Given the description of an element on the screen output the (x, y) to click on. 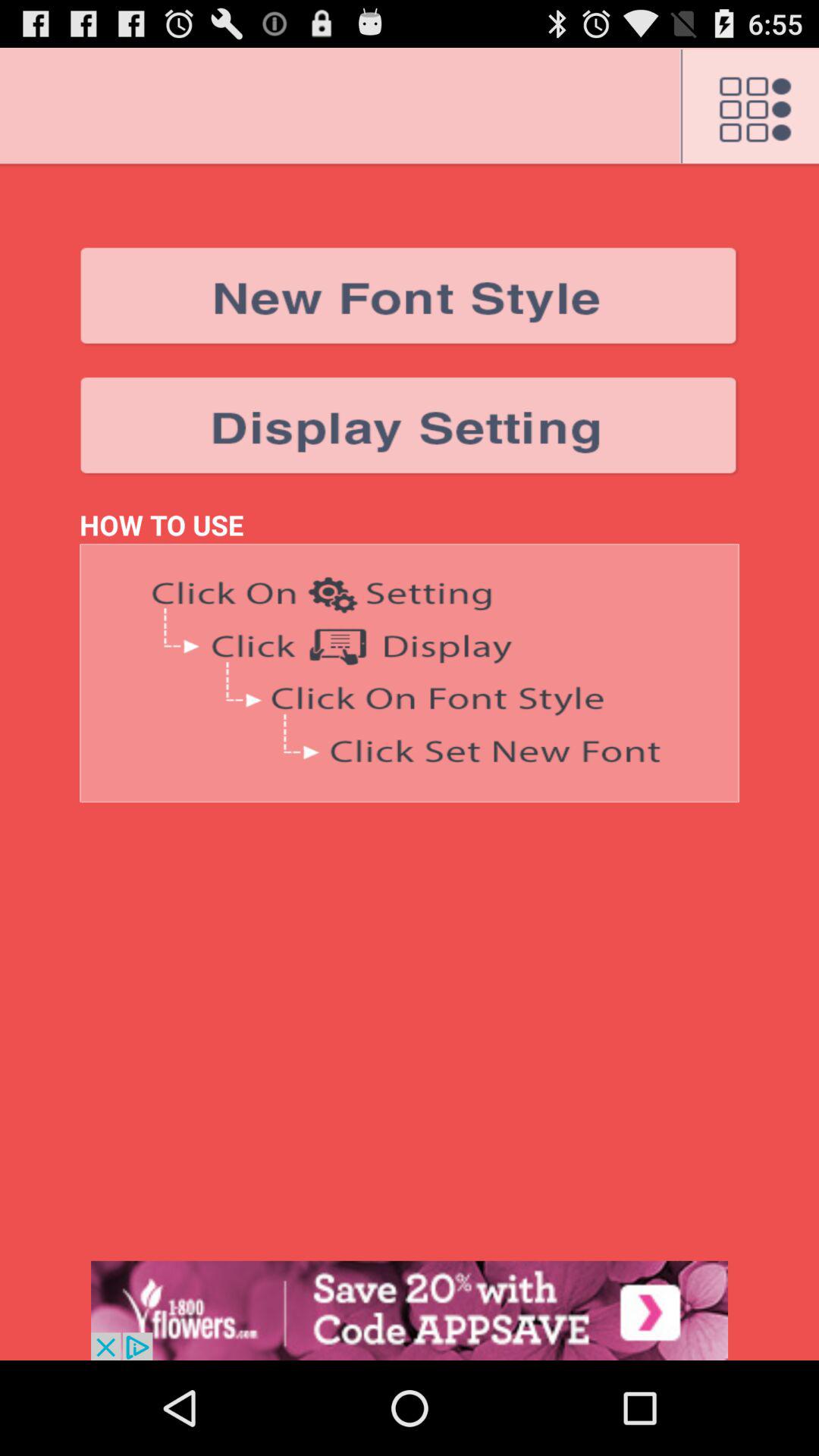
advertisement (409, 1310)
